Given the description of an element on the screen output the (x, y) to click on. 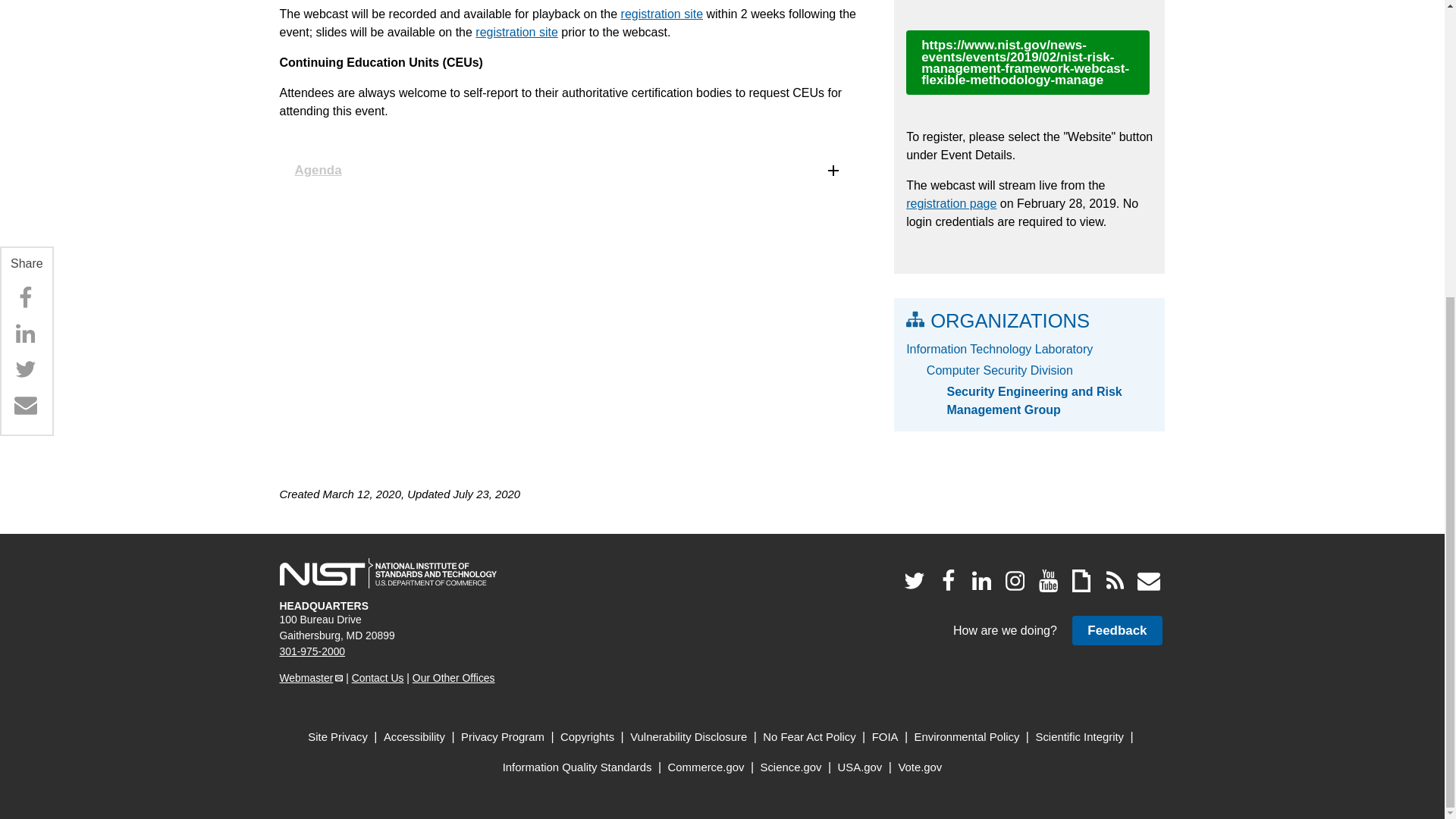
Computer Security Division (1039, 370)
registration page (950, 203)
National Institute of Standards and Technology (387, 572)
Agenda (568, 169)
registration site (662, 13)
Provide feedback (1116, 630)
301-975-2000 (312, 651)
Security Engineering and Risk Management Group (1050, 401)
Our Other Offices (453, 677)
Webmaster (310, 677)
Information Technology Laboratory (1029, 349)
registration site (516, 31)
Contact Us (378, 677)
